Given the description of an element on the screen output the (x, y) to click on. 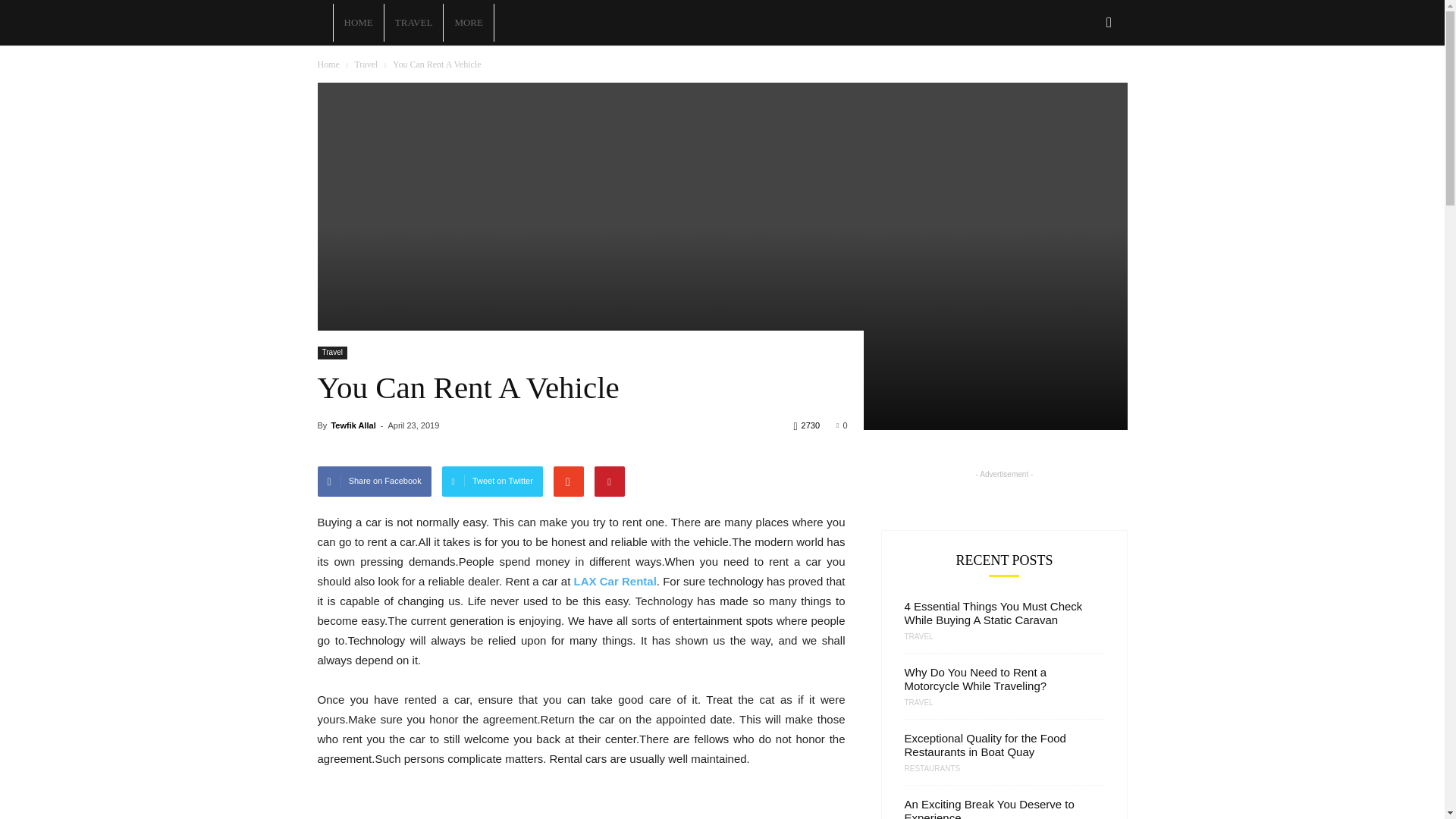
Tewfik Allal (352, 424)
Travel (365, 63)
Search (1085, 87)
HOME (358, 22)
Tweet on Twitter (492, 481)
Travel (331, 352)
View all posts in Travel (365, 63)
0 (841, 424)
MORE (468, 22)
Home (328, 63)
